Given the description of an element on the screen output the (x, y) to click on. 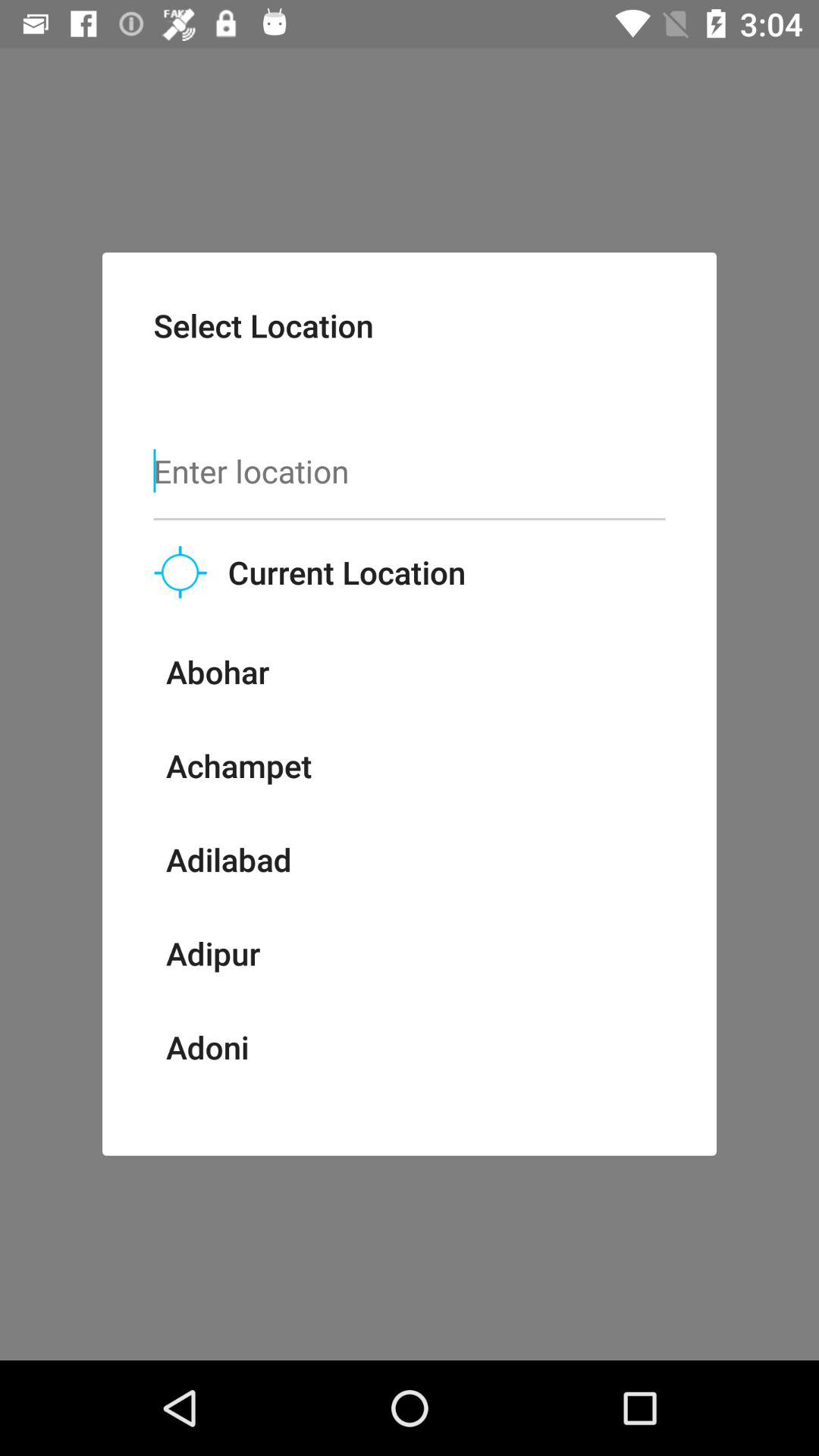
turn on the icon below achampet item (228, 859)
